Given the description of an element on the screen output the (x, y) to click on. 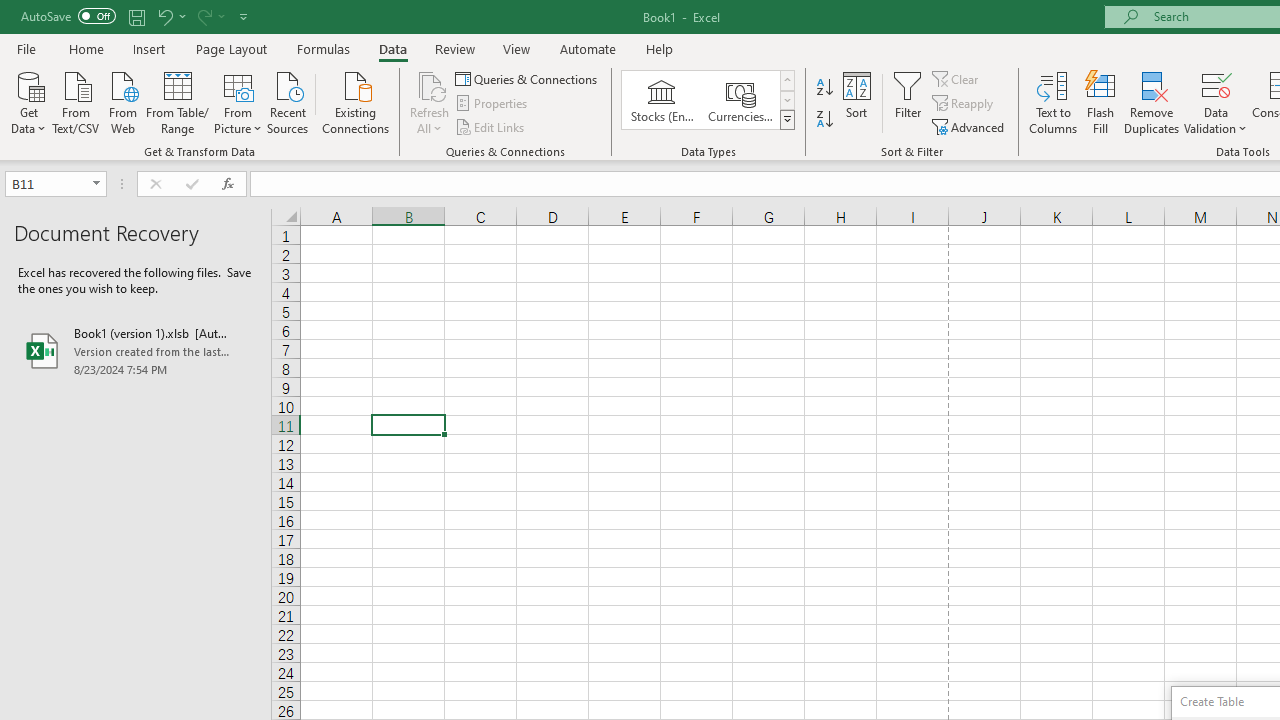
Row up (786, 79)
Recent Sources (287, 101)
From Table/Range (177, 101)
Text to Columns... (1053, 102)
Advanced... (970, 126)
AutomationID: ConvertToLinkedEntity (708, 99)
From Web (122, 101)
